Given the description of an element on the screen output the (x, y) to click on. 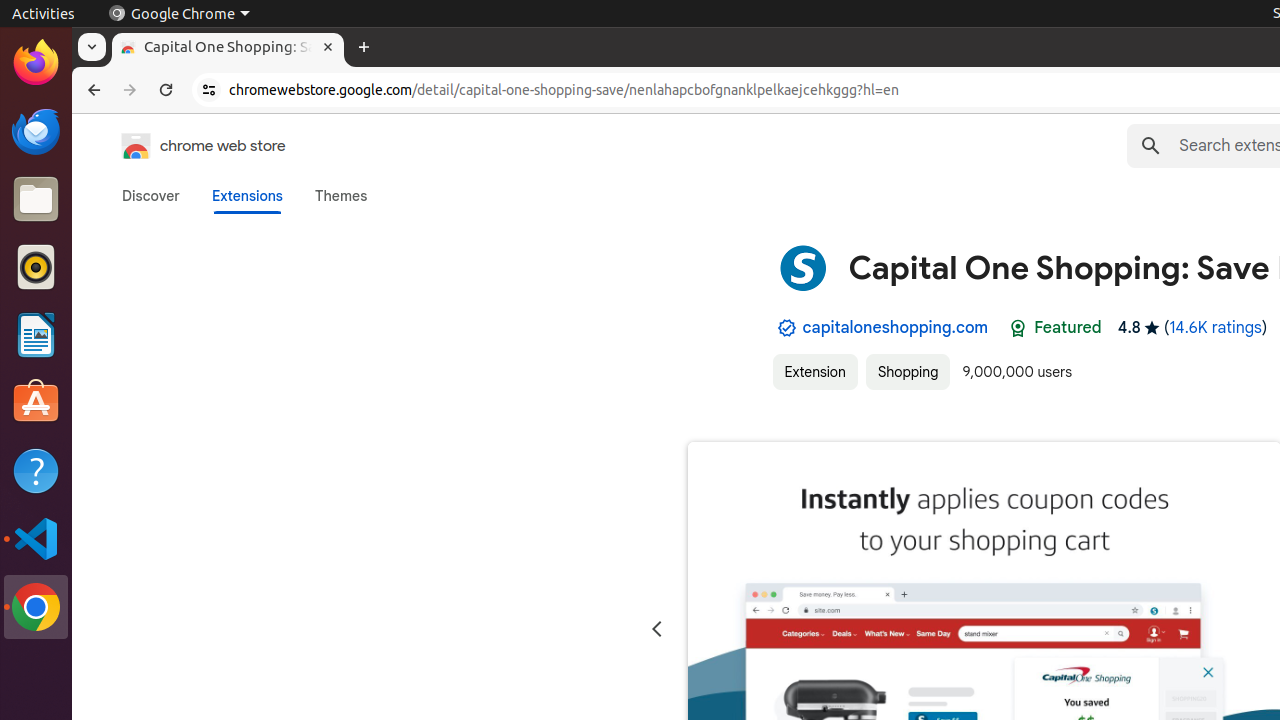
Shopping Element type: link (908, 372)
Files Element type: push-button (36, 199)
By Established Publisher Badge Element type: push-button (786, 328)
Visual Studio Code Element type: push-button (36, 538)
Google Chrome Element type: push-button (36, 607)
